Given the description of an element on the screen output the (x, y) to click on. 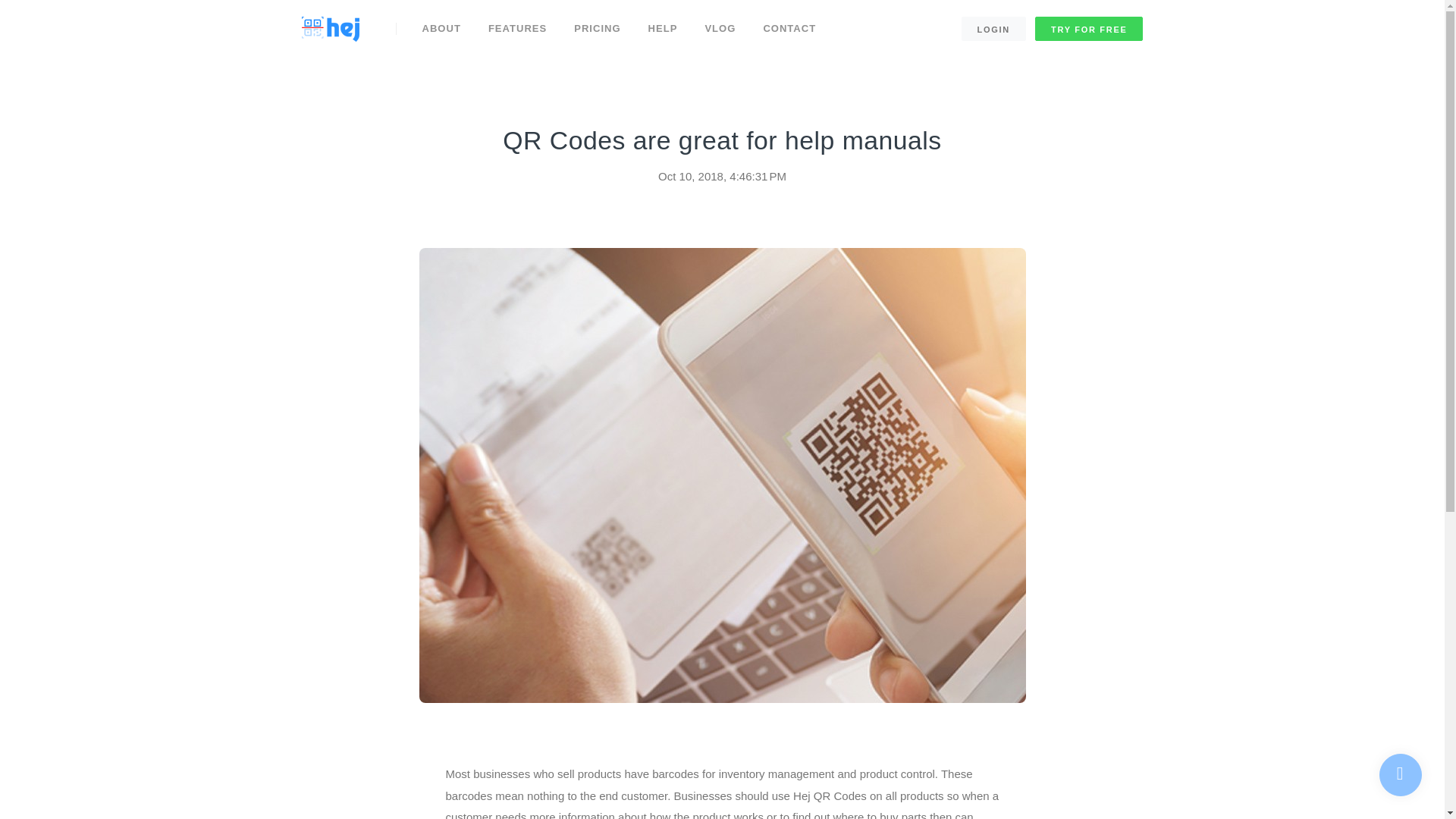
HELP (662, 28)
FEATURES (517, 28)
VLOG (719, 28)
LOGIN (993, 28)
TRY FOR FREE (1088, 28)
ABOUT (440, 28)
PRICING (596, 28)
CONTACT (789, 28)
